Given the description of an element on the screen output the (x, y) to click on. 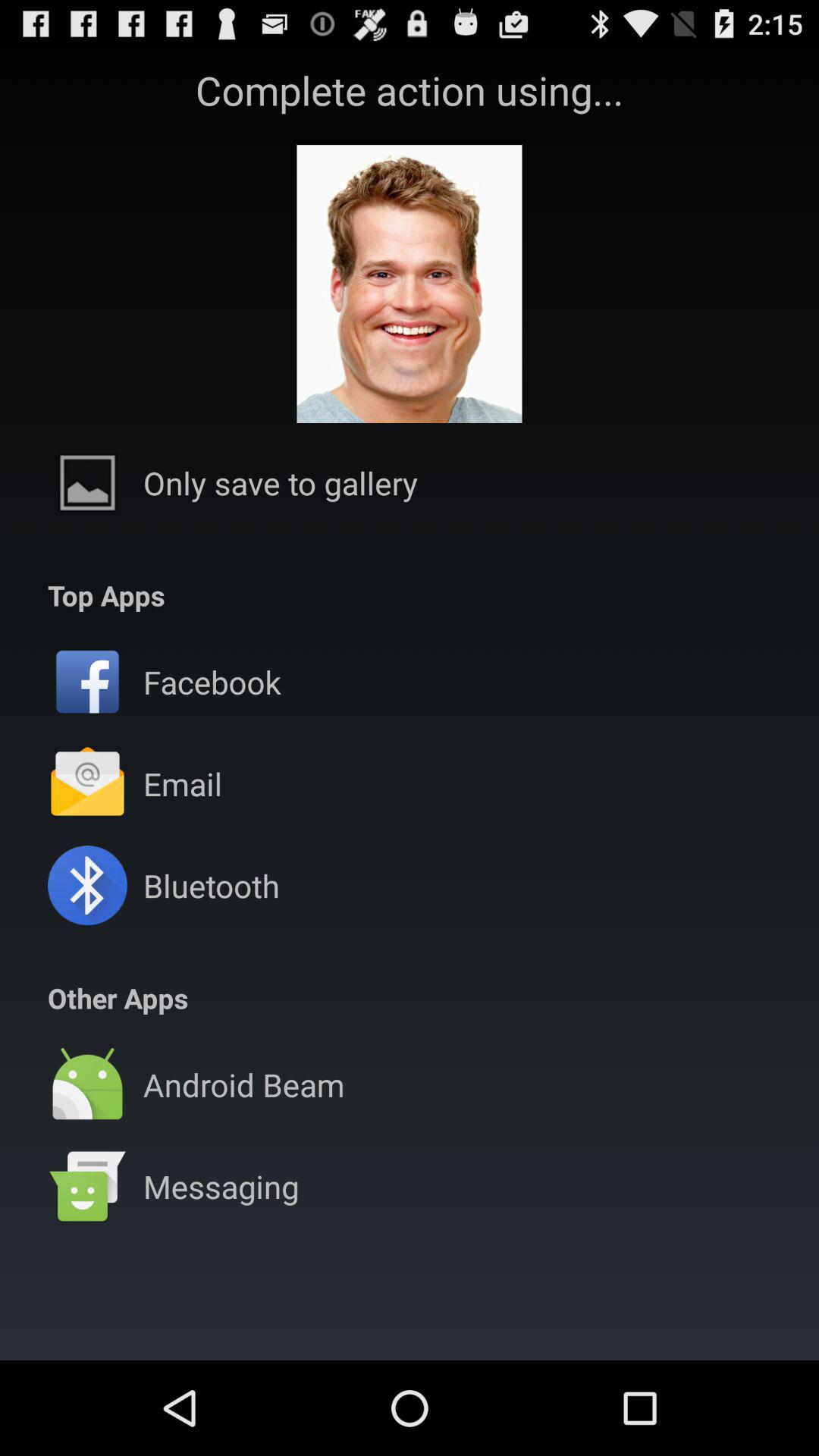
jump to the messaging item (221, 1186)
